Given the description of an element on the screen output the (x, y) to click on. 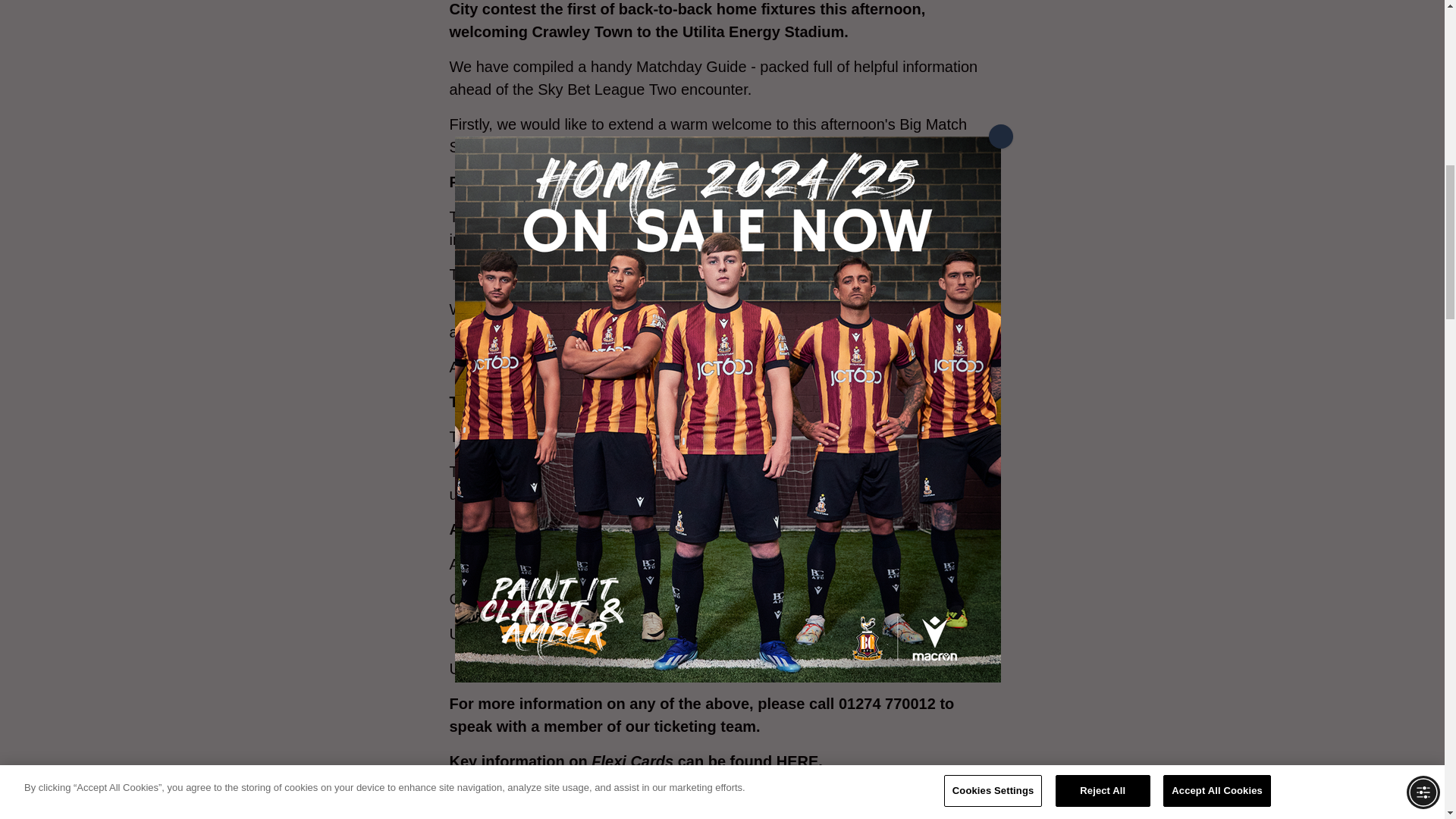
CLICK HERE (732, 795)
HERE (797, 760)
